Given the description of an element on the screen output the (x, y) to click on. 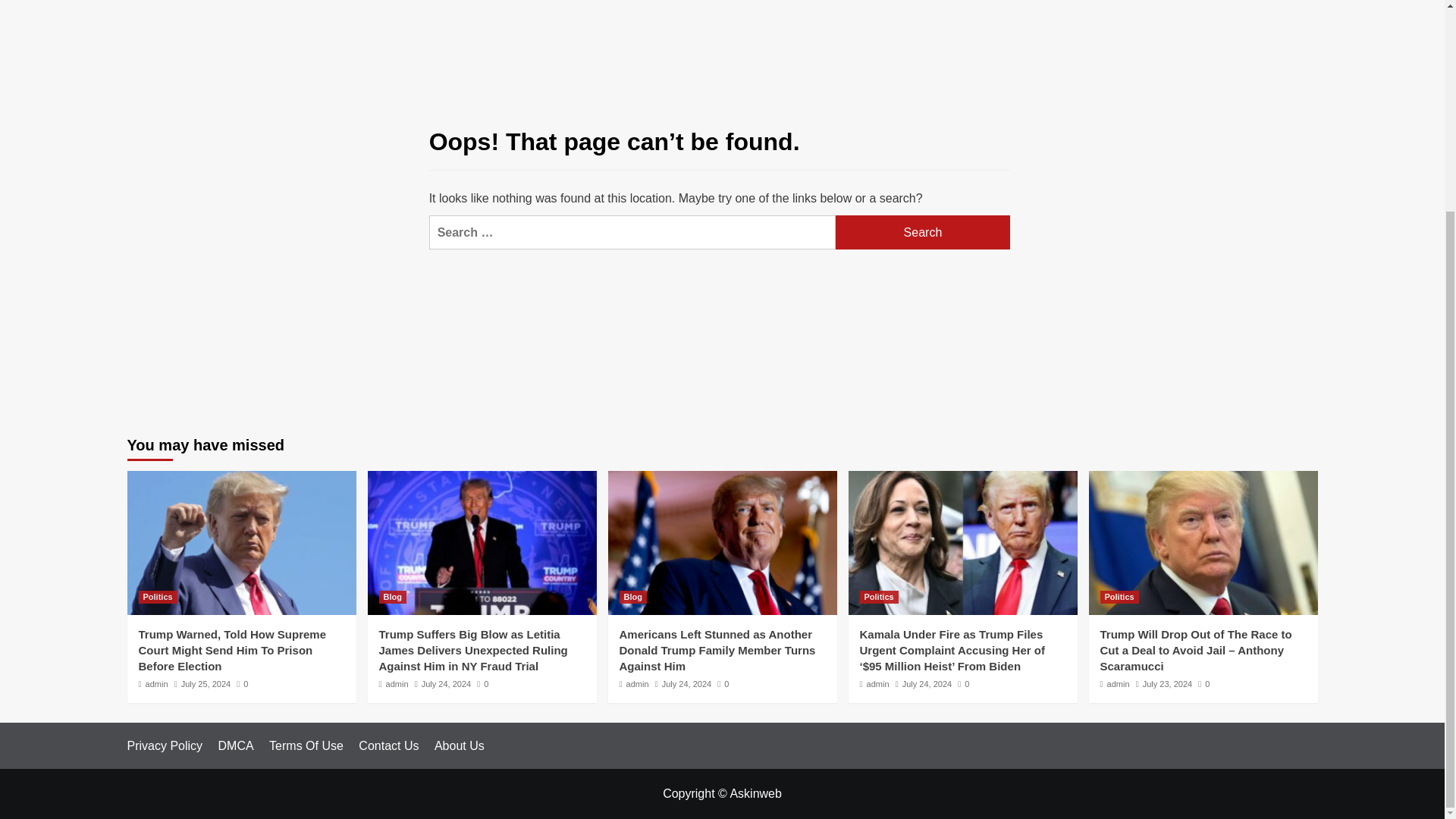
admin (156, 683)
admin (397, 683)
admin (877, 683)
Search (922, 232)
July 24, 2024 (927, 683)
0 (723, 683)
0 (963, 683)
Politics (1118, 596)
July 24, 2024 (686, 683)
Politics (879, 596)
0 (482, 683)
Search (922, 232)
admin (637, 683)
